Given the description of an element on the screen output the (x, y) to click on. 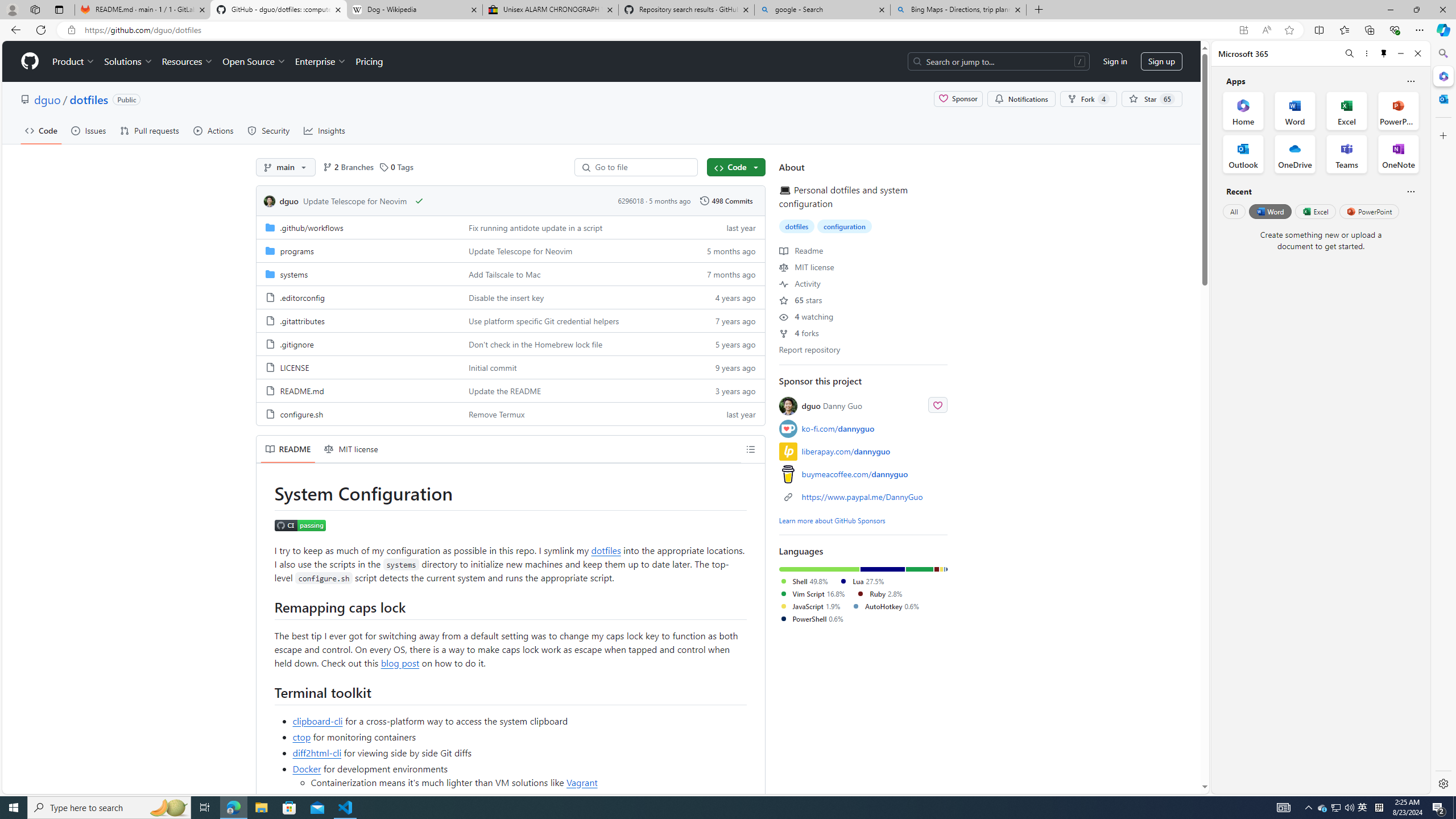
diff2html-cli for viewing side by side Git diffs (519, 752)
You must be signed in to star a repository (1151, 98)
Solutions (128, 60)
498 Commits (726, 200)
google - Search (822, 9)
Excel Office App (1346, 110)
Outlook (1442, 98)
Use platform specific Git credential helpers (543, 320)
success (419, 200)
Initial commit (492, 367)
Go to file (640, 167)
AutomationID: folder-row-0 (510, 227)
Permalink: Terminal toolkit (266, 691)
